Given the description of an element on the screen output the (x, y) to click on. 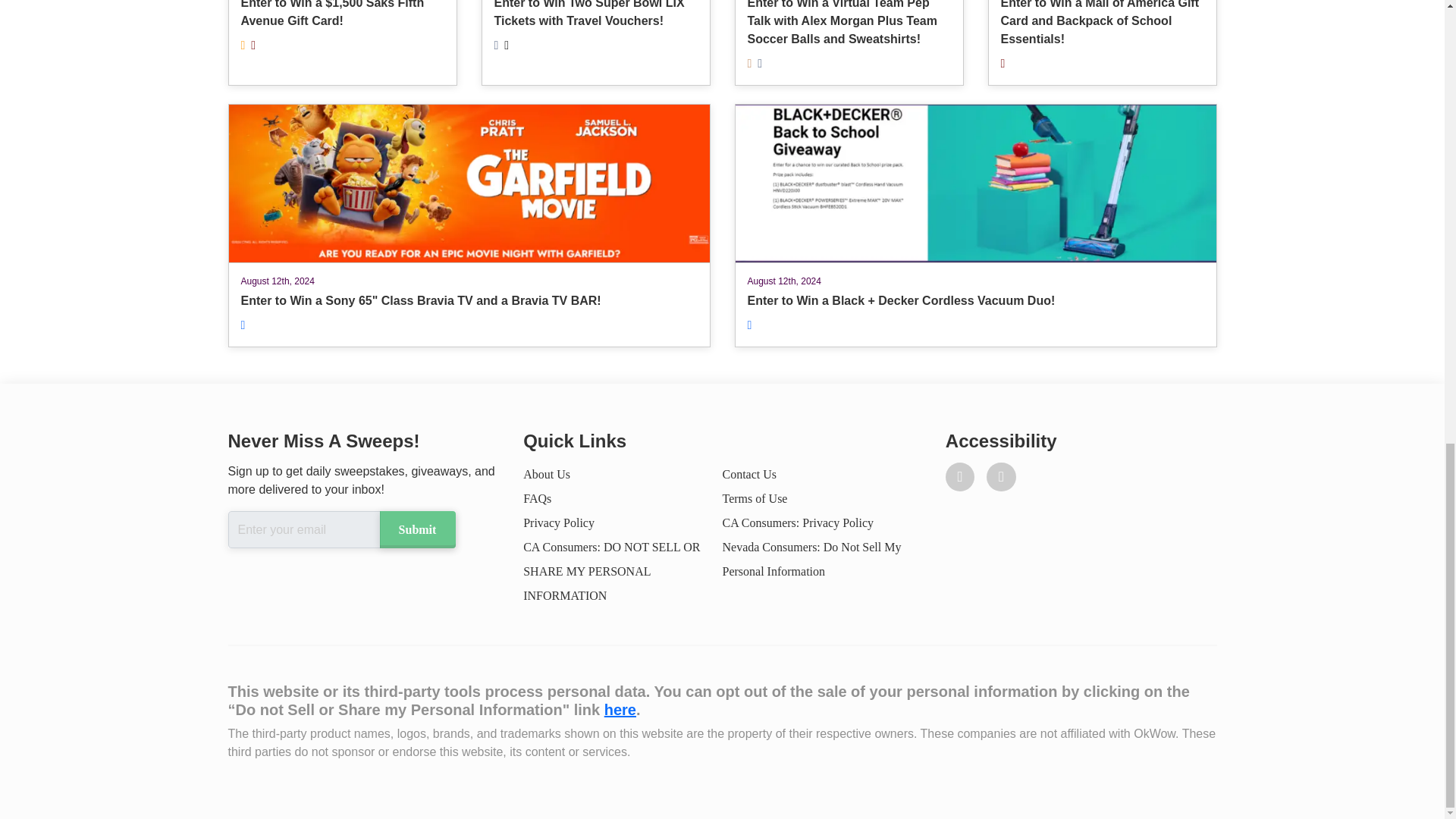
Privacy Policy (558, 522)
Terms of Use (754, 498)
Submit (416, 529)
FAQs (536, 498)
Contact Us (749, 473)
About Us (546, 473)
CA Consumers: Privacy Policy (797, 522)
